Given the description of an element on the screen output the (x, y) to click on. 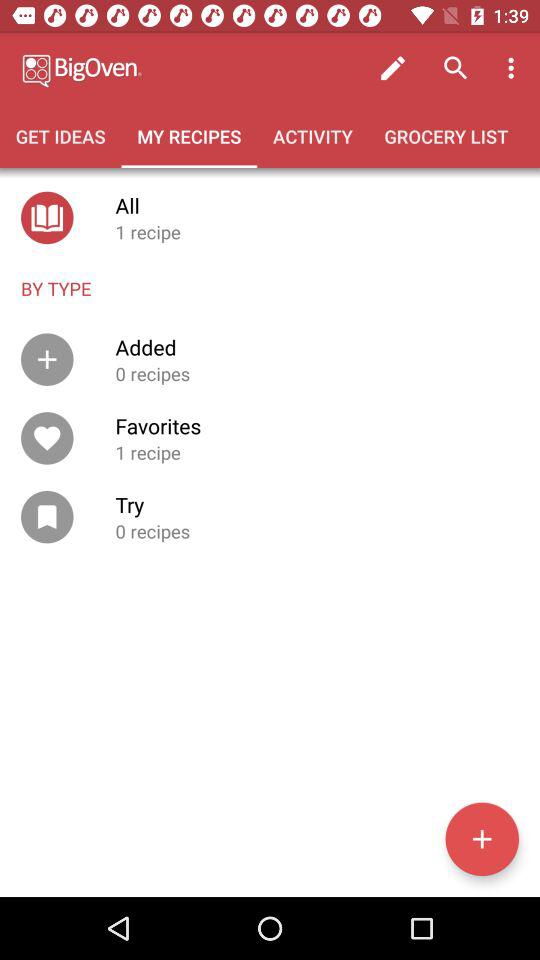
choose icon above grocery list icon (392, 67)
